Given the description of an element on the screen output the (x, y) to click on. 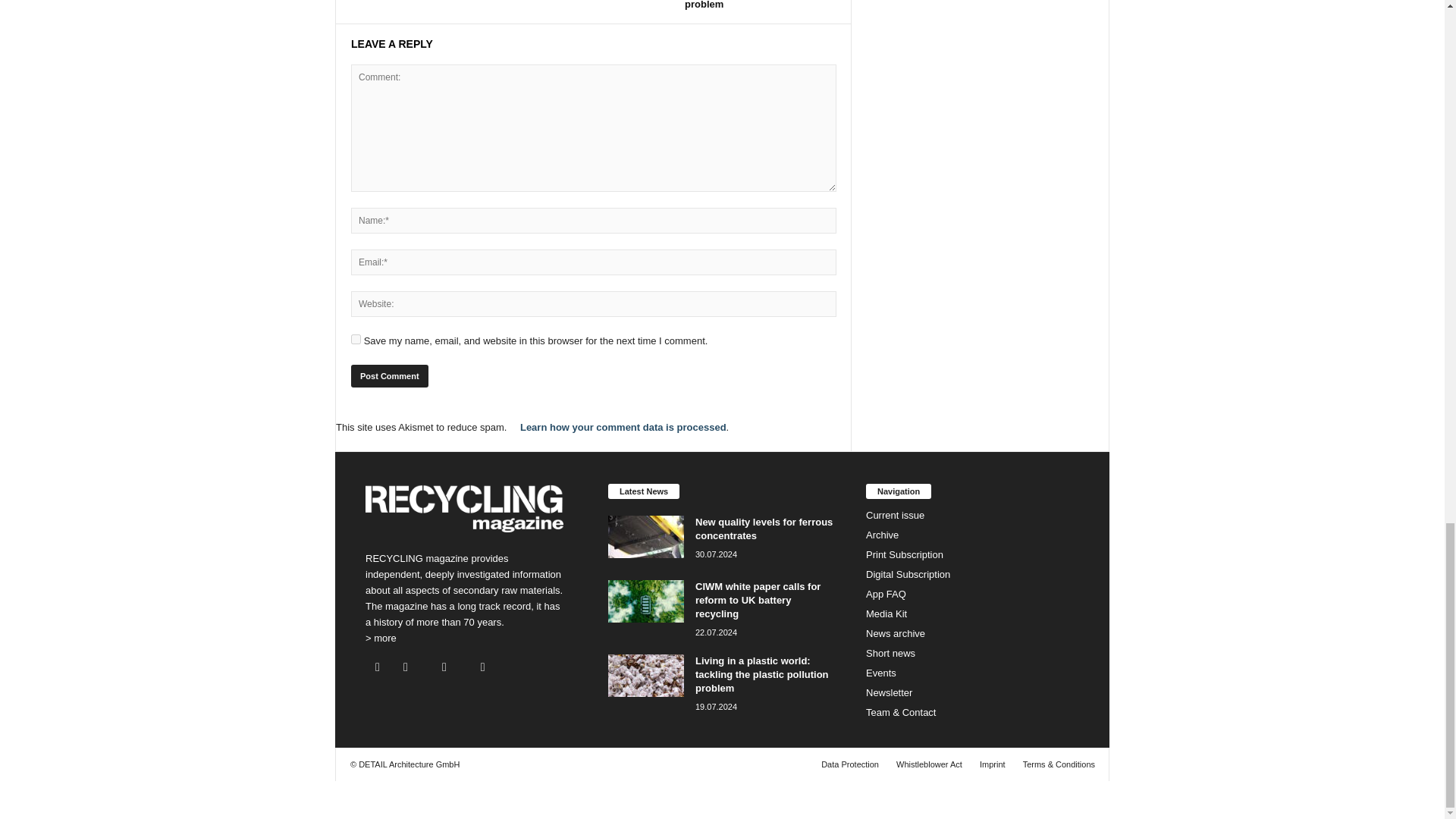
Post Comment (389, 375)
yes (355, 338)
